Given the description of an element on the screen output the (x, y) to click on. 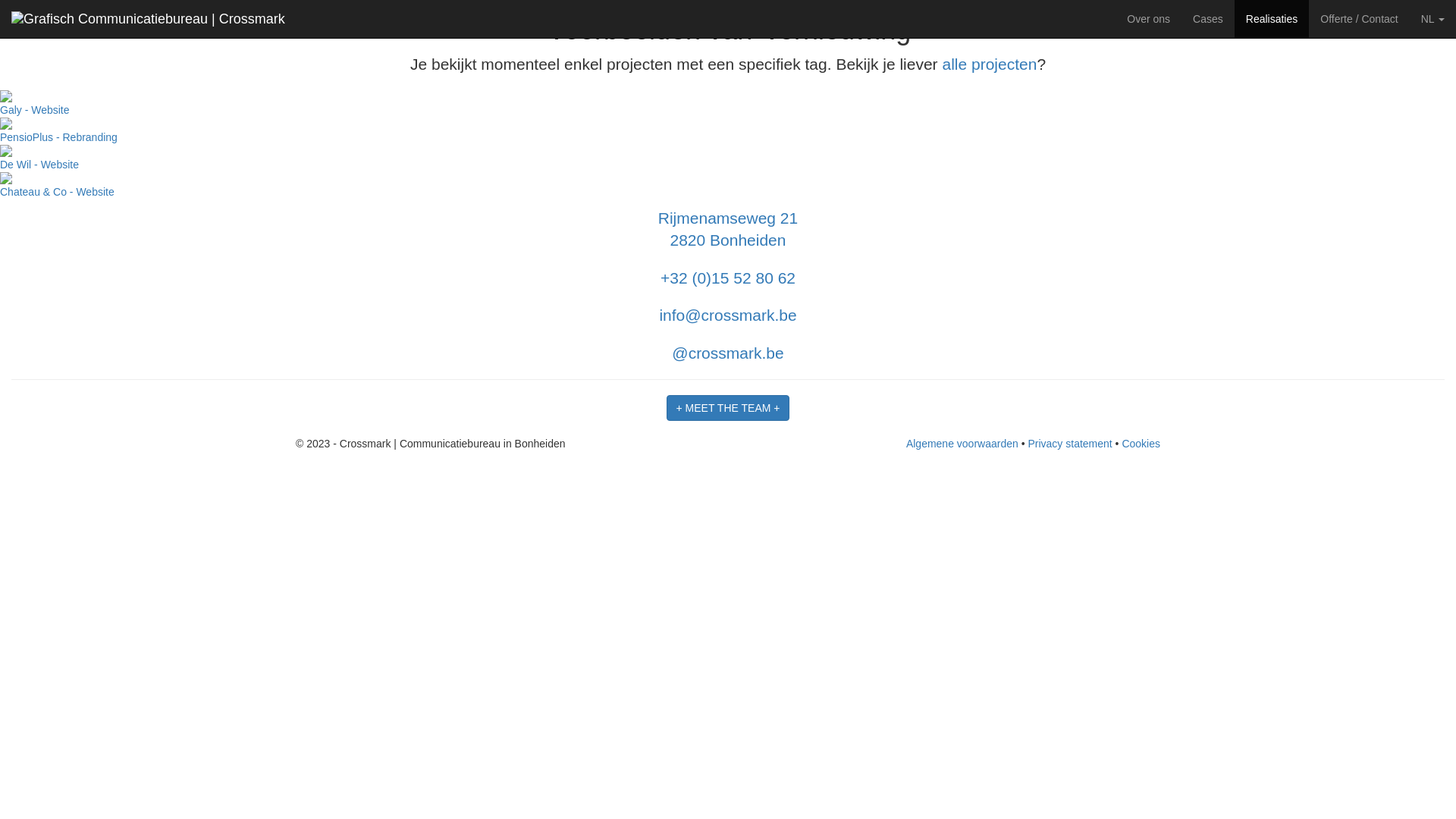
+ MEET THE TEAM + Element type: text (728, 407)
Over ons Element type: text (1148, 18)
Privacy statement Element type: text (1069, 443)
Offerte / Contact Element type: text (1358, 18)
+32 (0)15 52 80 62 Element type: text (727, 277)
info@crossmark.be Element type: text (727, 314)
Realisaties Element type: text (1271, 18)
Rijmenamseweg 21
2820 Bonheiden Element type: text (727, 228)
alle projecten Element type: text (988, 63)
Cases Element type: text (1207, 18)
@crossmark.be Element type: text (727, 352)
Algemene voorwaarden Element type: text (962, 443)
Cookies Element type: text (1140, 443)
